Given the description of an element on the screen output the (x, y) to click on. 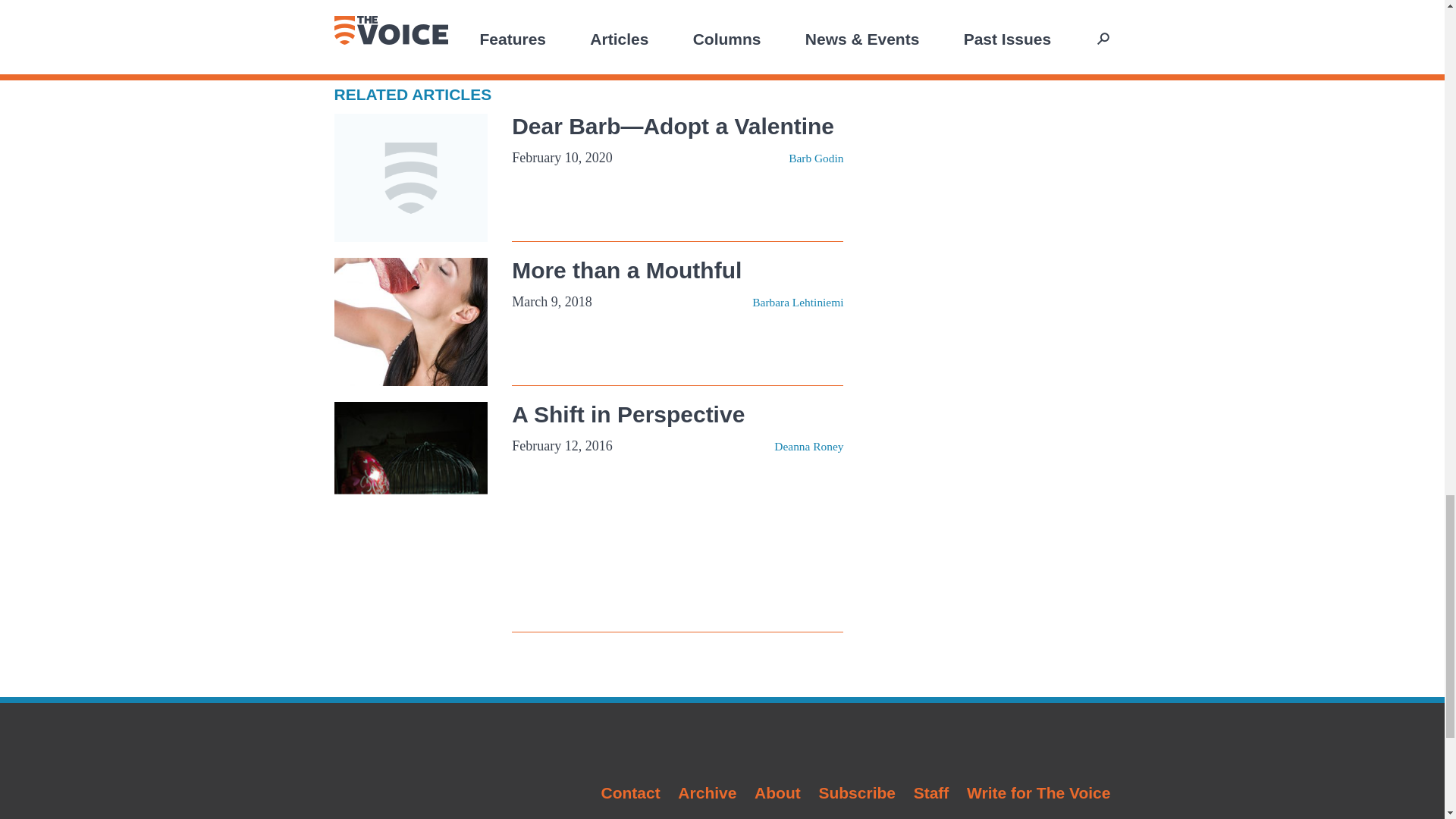
Deanna Roney (808, 445)
More than a Mouthful (626, 269)
Posts by Deanna Roney (808, 445)
Barb Godin (816, 157)
A Shift in Perspective (628, 414)
Posts by Barb Godin (816, 157)
Posts by Barbara Lehtiniemi (797, 301)
Barbara Lehtiniemi (797, 301)
